Given the description of an element on the screen output the (x, y) to click on. 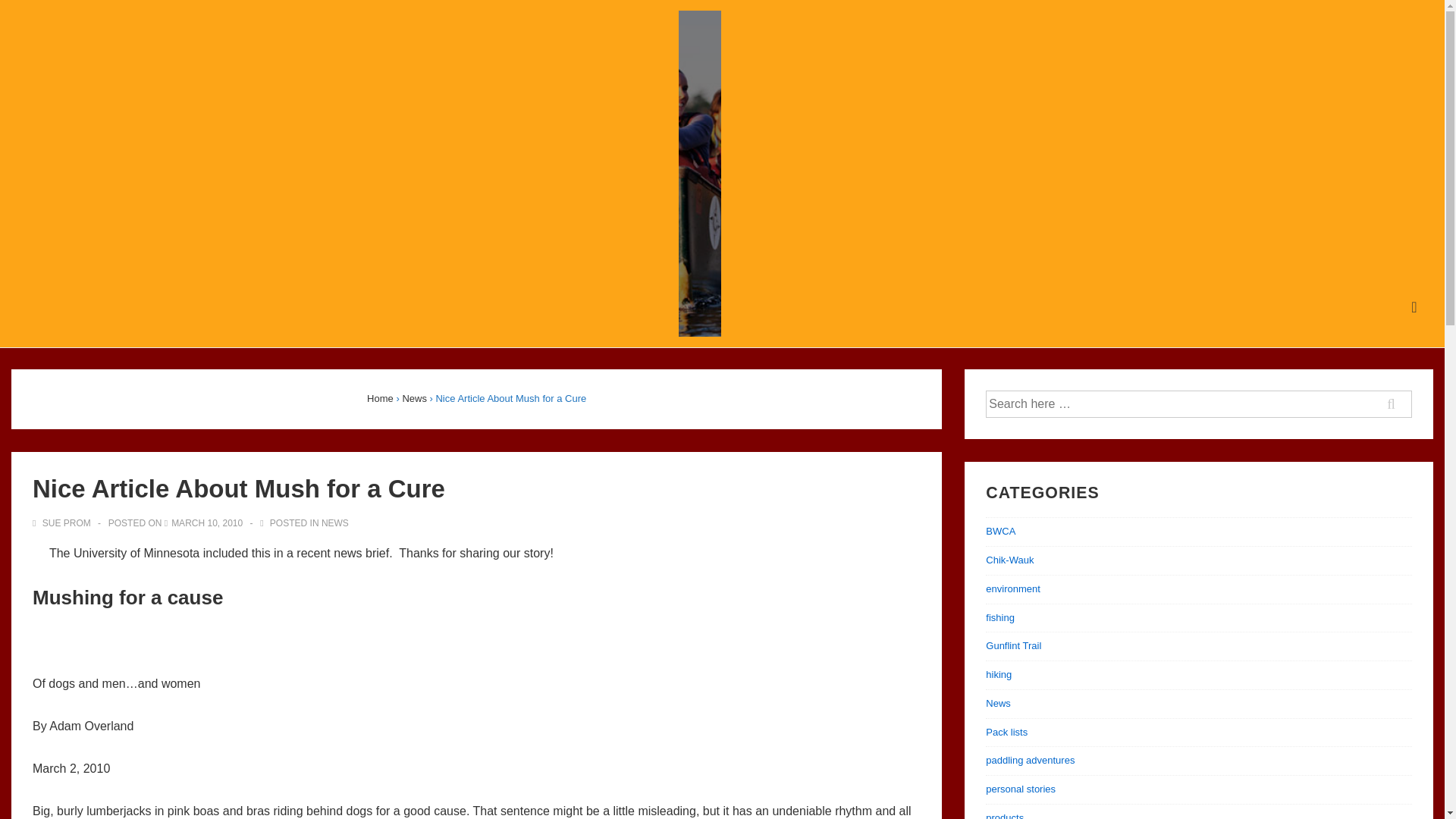
fishing (999, 617)
paddling adventures (1029, 759)
MENU (1414, 307)
Home (379, 398)
personal stories (1020, 788)
MARCH 10, 2010 (207, 522)
hiking (998, 674)
products (1004, 815)
News (413, 398)
Gunflint Trail (1013, 645)
BWCA (999, 531)
Pack lists (1006, 731)
Nice Article About Mush for a Cure (207, 522)
SUE PROM (62, 522)
News (997, 703)
